Given the description of an element on the screen output the (x, y) to click on. 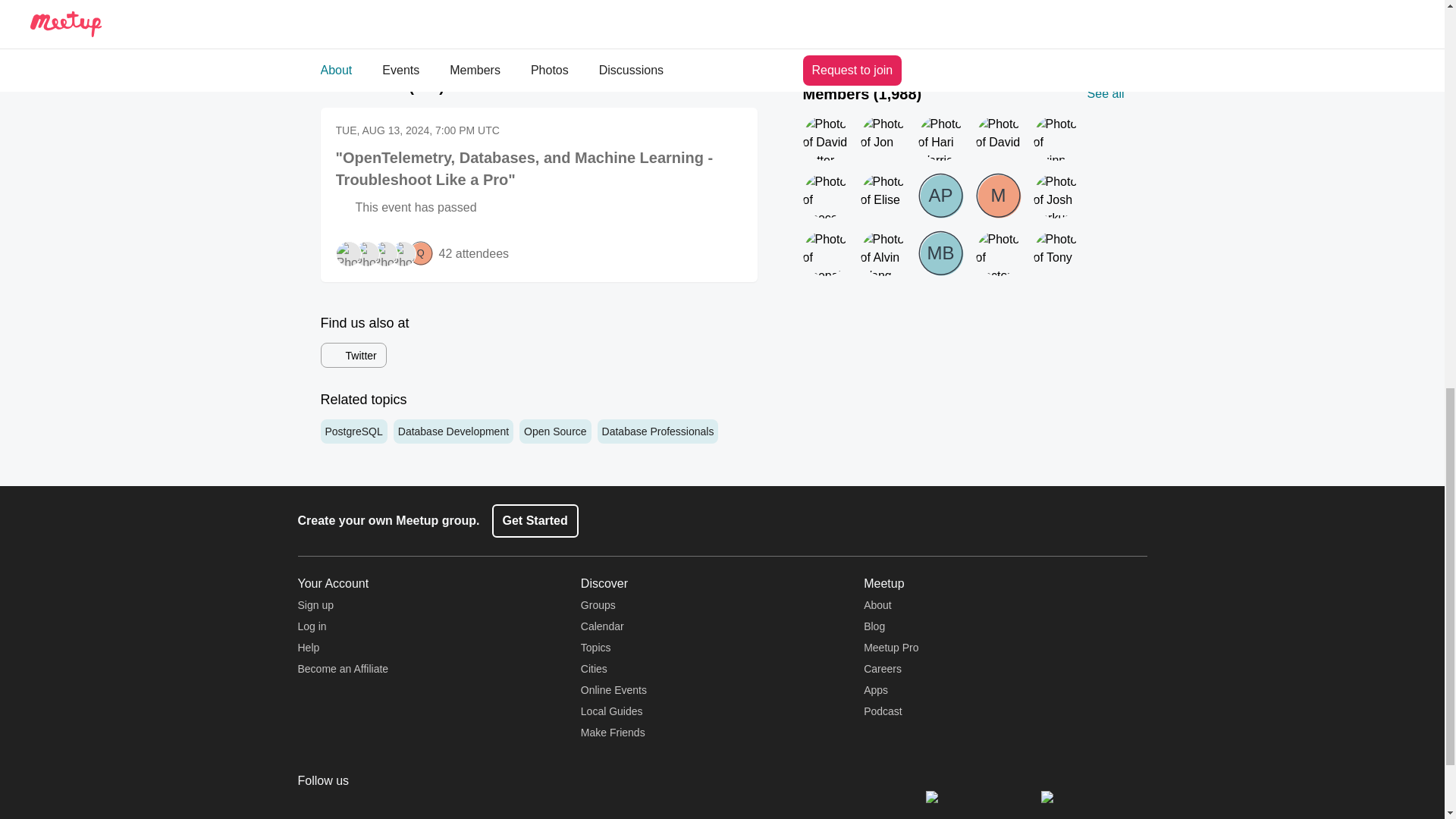
Database Development (453, 431)
See all (738, 85)
Q (419, 252)
PostgreSQL (353, 431)
Attend (713, 20)
Twitter (352, 355)
